Given the description of an element on the screen output the (x, y) to click on. 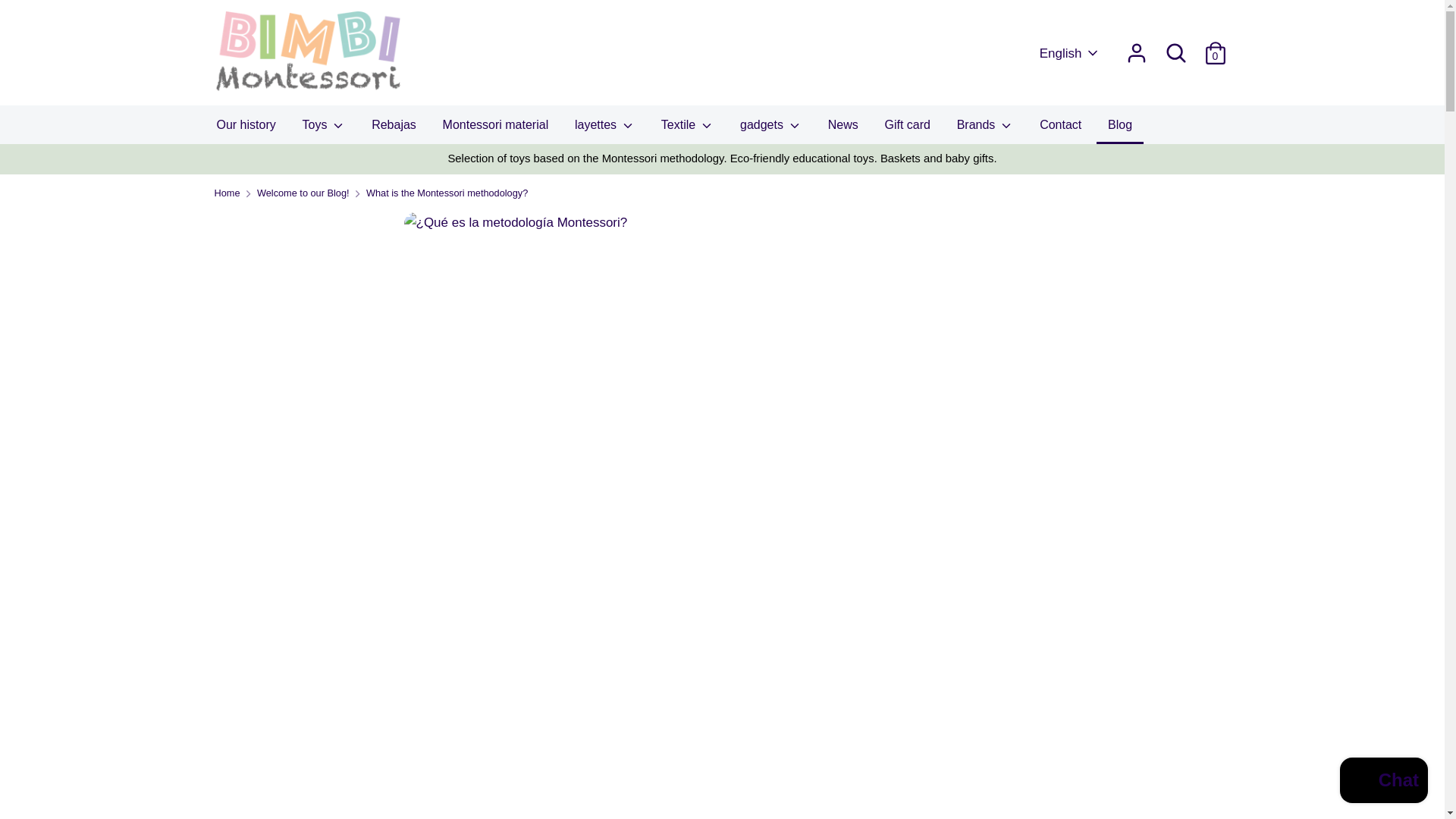
English (1069, 54)
Search (1175, 52)
0 (1214, 47)
Shopify online store chat (1383, 781)
